Given the description of an element on the screen output the (x, y) to click on. 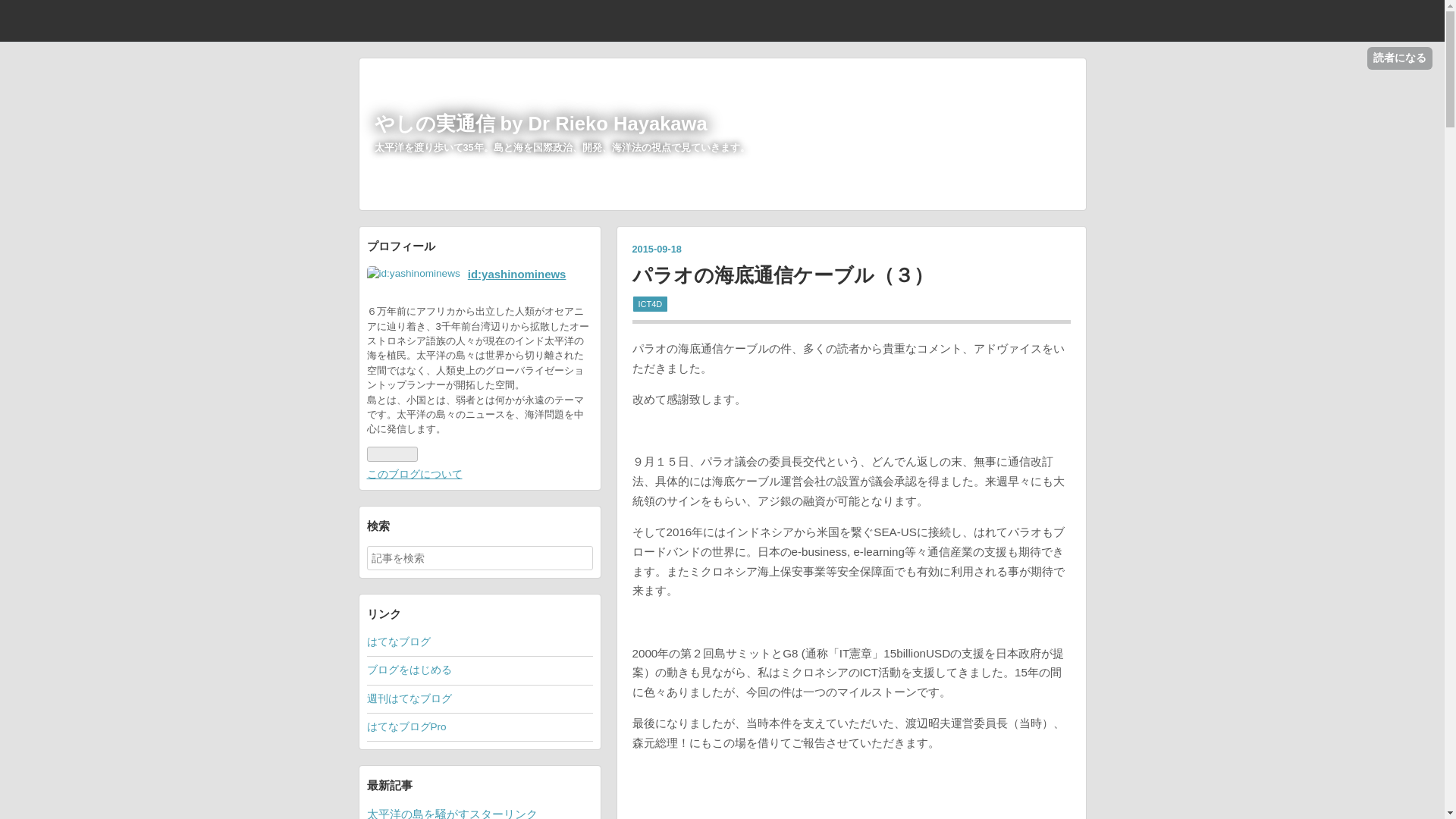
2015-09-17T21:44:18Z (656, 248)
2015-09-18 (656, 248)
ICT4D (649, 303)
id:yashinominews (516, 273)
